Given the description of an element on the screen output the (x, y) to click on. 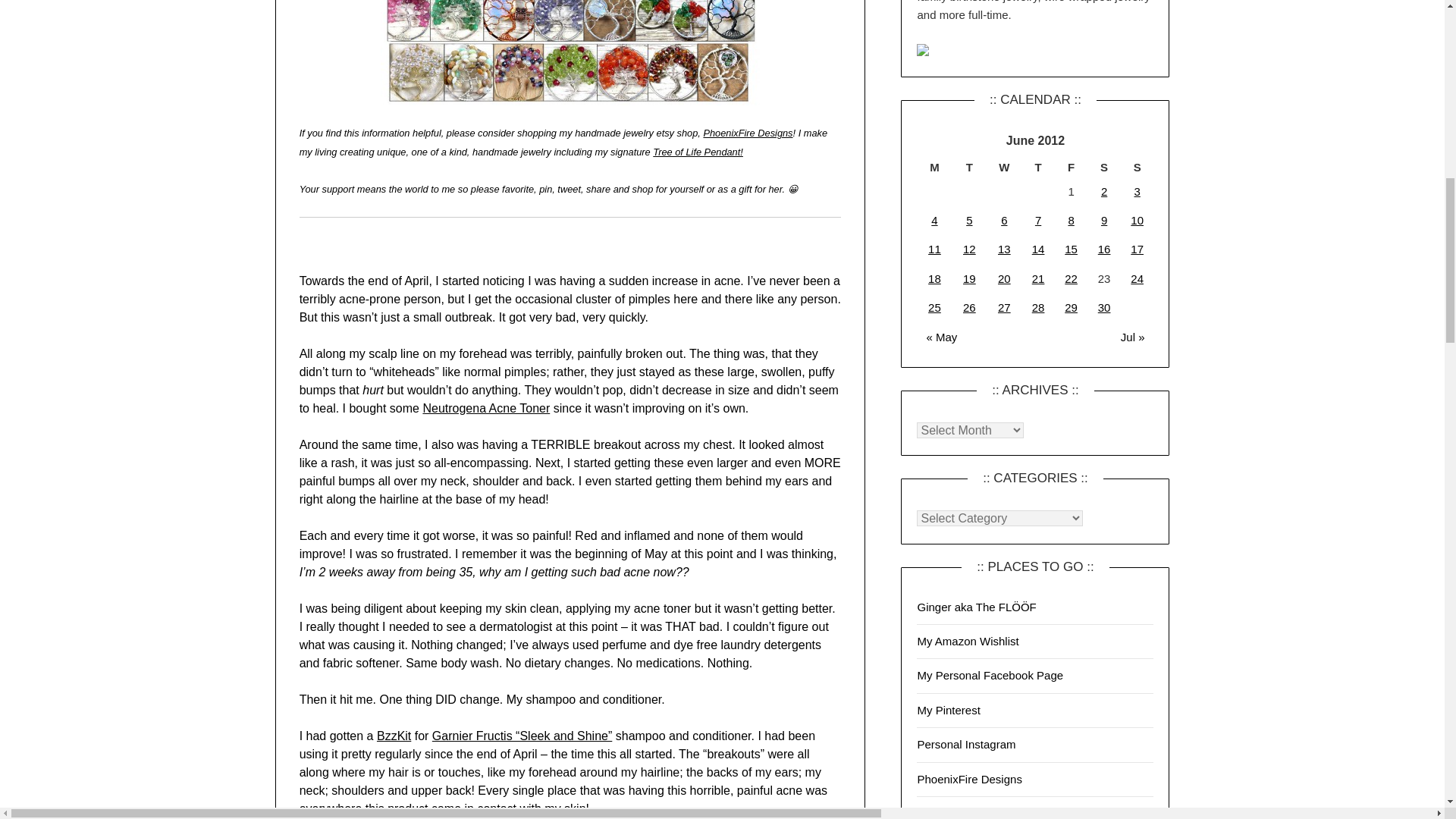
Neutrogena Acne Toner (486, 408)
Tuesday (969, 167)
Thursday (1038, 167)
Tree of Life Pendant! (697, 152)
BzzKit (393, 735)
My personal facebook page (989, 675)
Saturday (1104, 167)
Sunday (1137, 167)
PhoenixFire Designs (747, 132)
Wednesday (1004, 167)
